Given the description of an element on the screen output the (x, y) to click on. 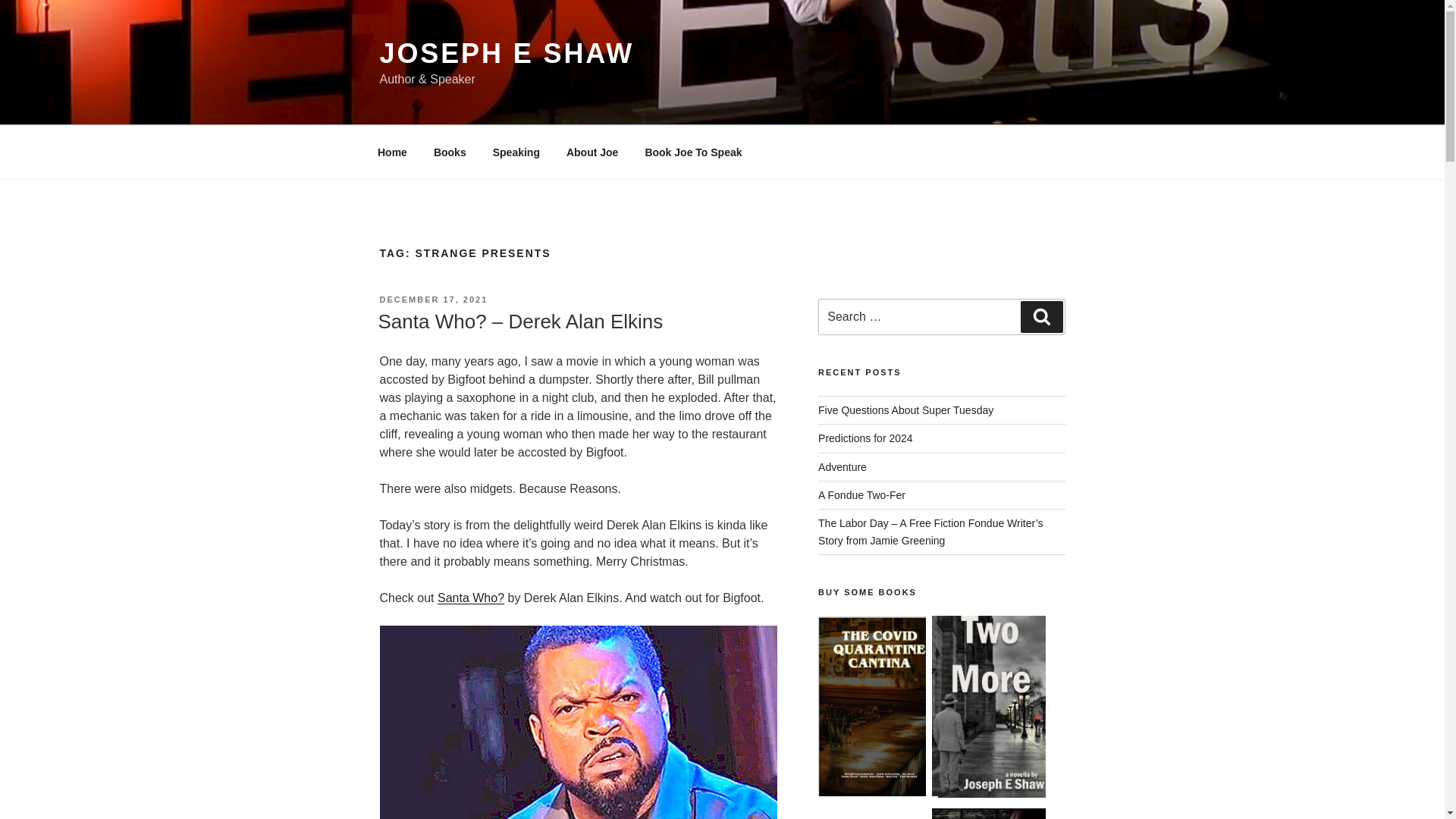
Adventure (842, 467)
About Joe (591, 151)
Books (449, 151)
Santa Who? (470, 597)
Home (392, 151)
Five Questions About Super Tuesday (905, 410)
Book Joe To Speak (693, 151)
JOSEPH E SHAW (505, 52)
DECEMBER 17, 2021 (432, 298)
Predictions for 2024 (865, 438)
A Fondue Two-Fer (861, 494)
Search (1041, 316)
Speaking (516, 151)
